Given the description of an element on the screen output the (x, y) to click on. 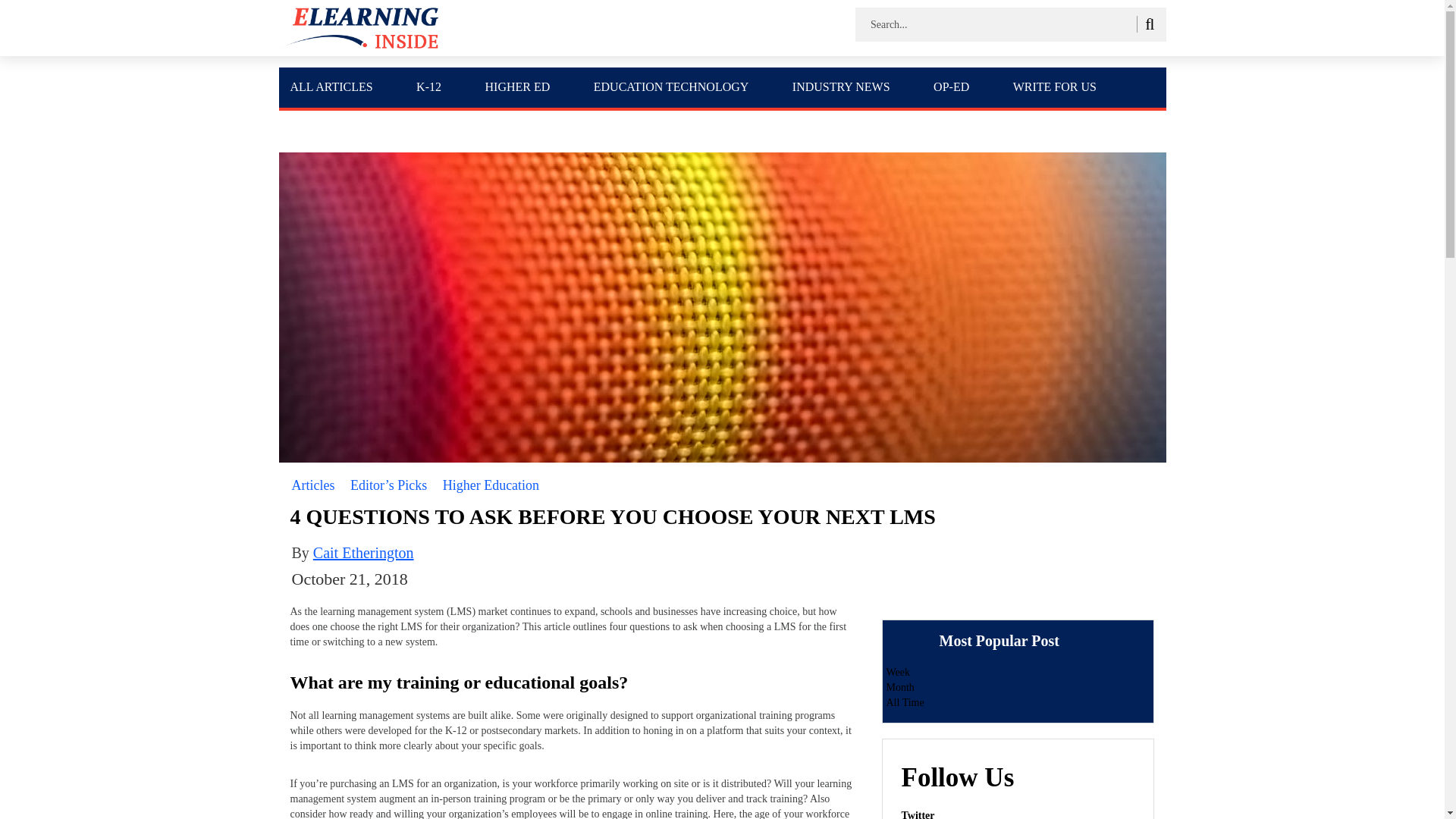
Week (897, 672)
EDUCATION TECHNOLOGY (671, 87)
Twitter (917, 814)
Search... (979, 24)
Higher Education (490, 485)
INDUSTRY NEWS (840, 87)
Cait Etherington (363, 552)
All Time (904, 702)
K-12 (428, 87)
Articles (312, 485)
